Given the description of an element on the screen output the (x, y) to click on. 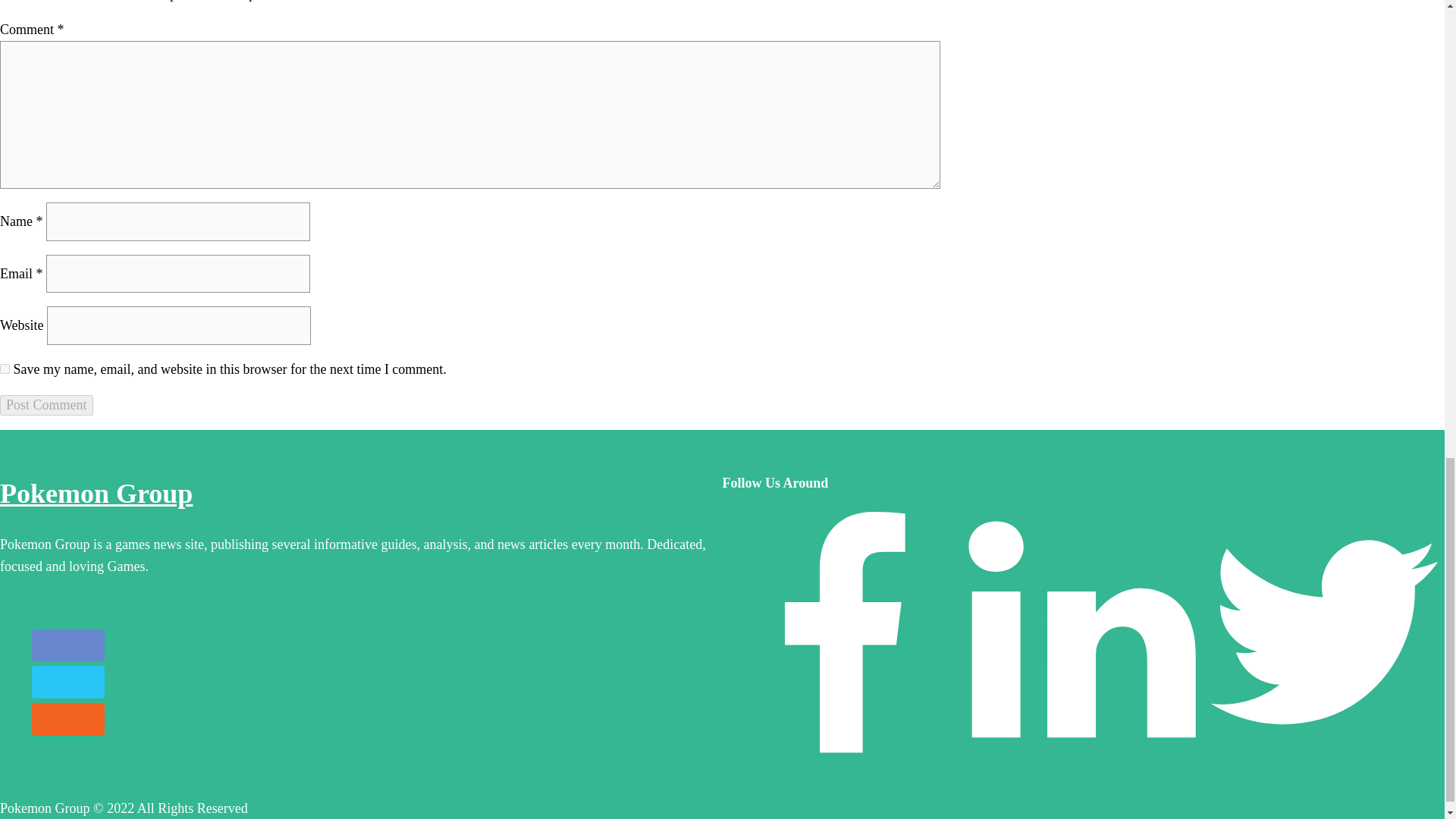
Pokemon Group (96, 493)
Post Comment (46, 404)
yes (5, 368)
Post Comment (46, 404)
